Given the description of an element on the screen output the (x, y) to click on. 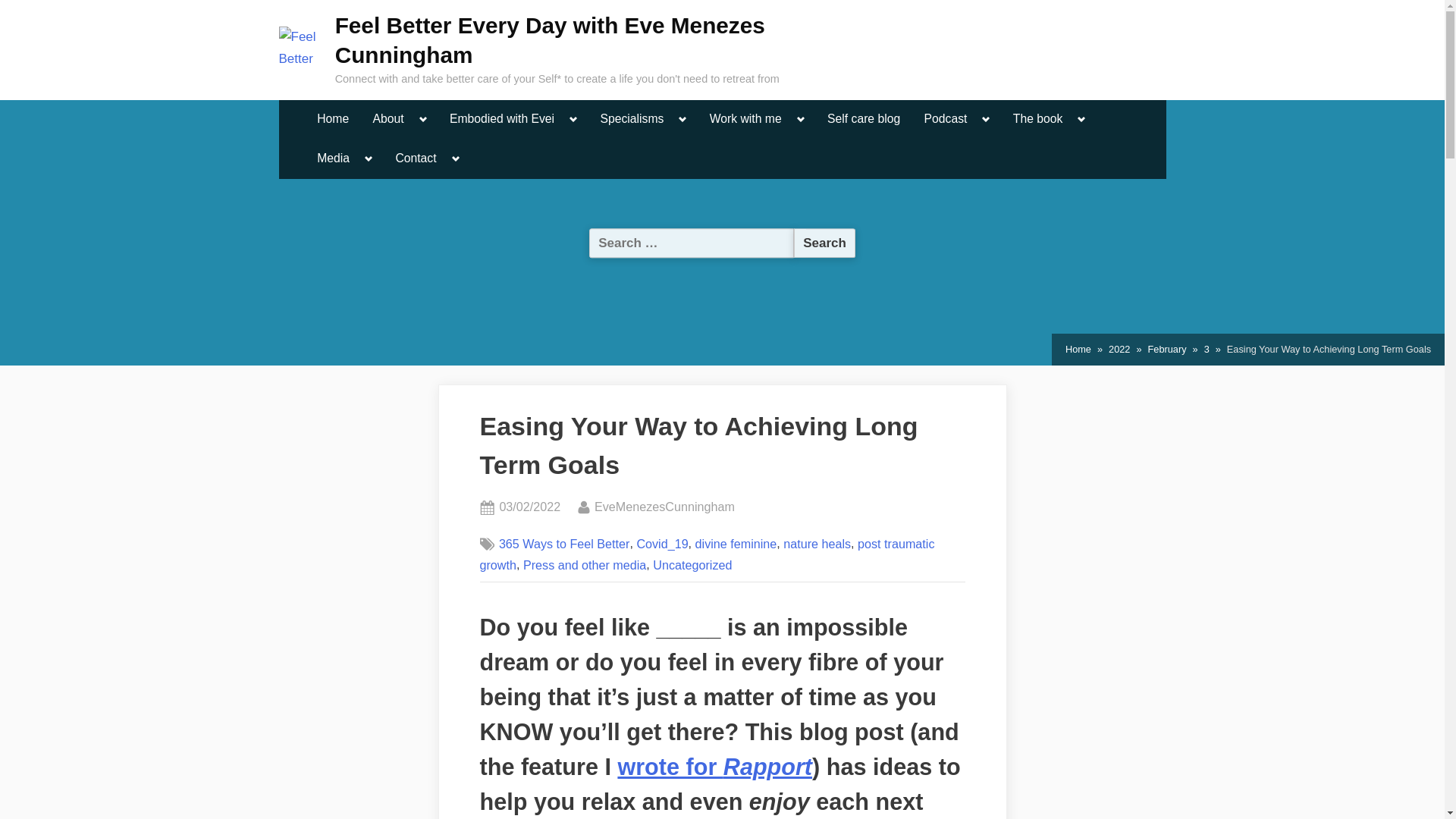
Work with me (745, 119)
Embodied with Evei (501, 119)
Home (332, 119)
Feel Better Every Day with Eve Menezes Cunningham (549, 40)
Specialisms (631, 119)
Toggle sub-menu (422, 119)
Toggle sub-menu (682, 119)
Toggle sub-menu (573, 119)
Search (824, 242)
Search (824, 242)
